Given the description of an element on the screen output the (x, y) to click on. 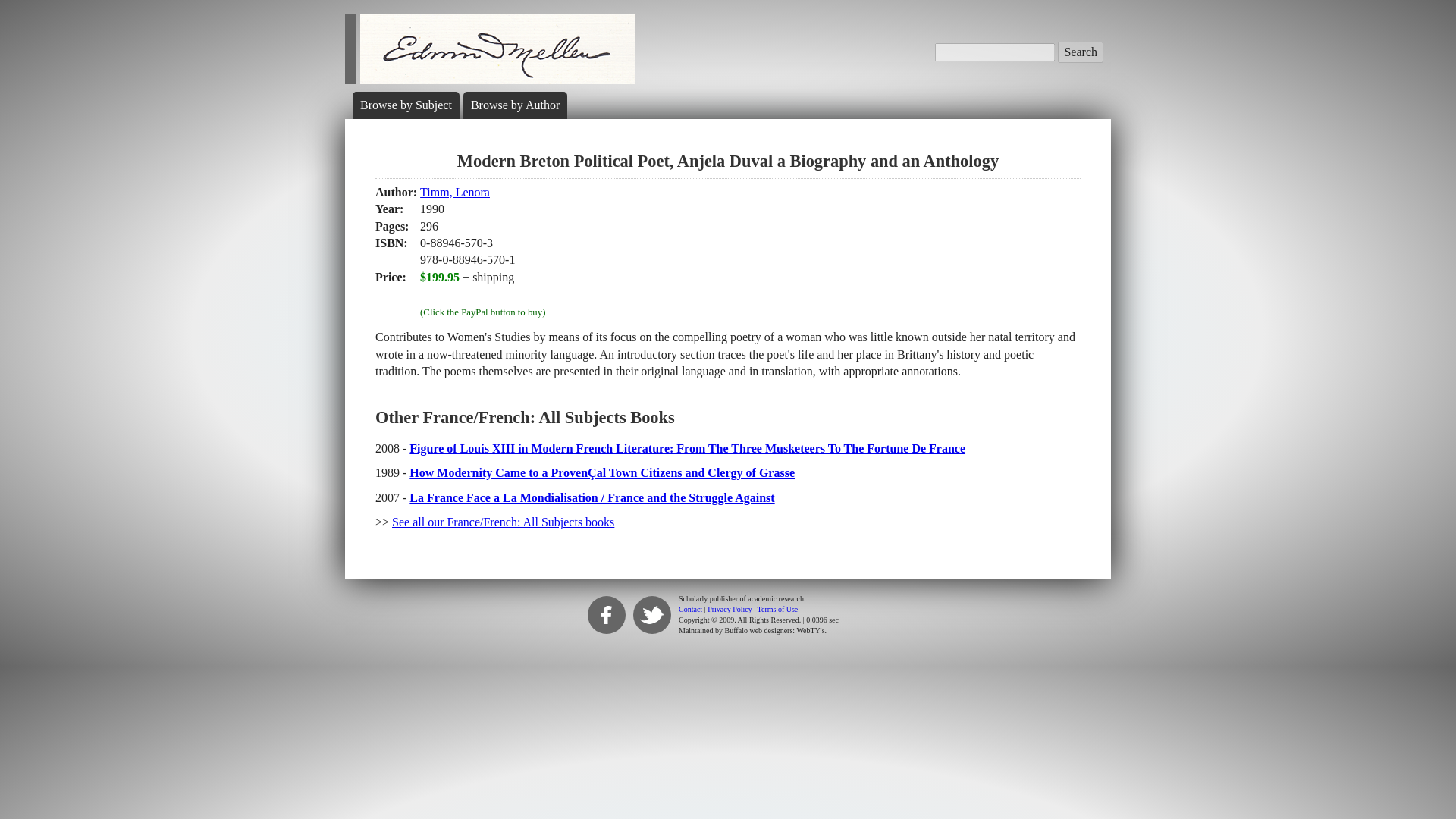
Browse by Subject (405, 105)
Timm, Lenora (454, 192)
PayPal (482, 294)
Search (1080, 52)
Privacy Policy (729, 609)
Buffalo web designers: WebTY's (775, 630)
Contact (689, 609)
Terms of Use (777, 609)
Browse by Author (514, 105)
